Given the description of an element on the screen output the (x, y) to click on. 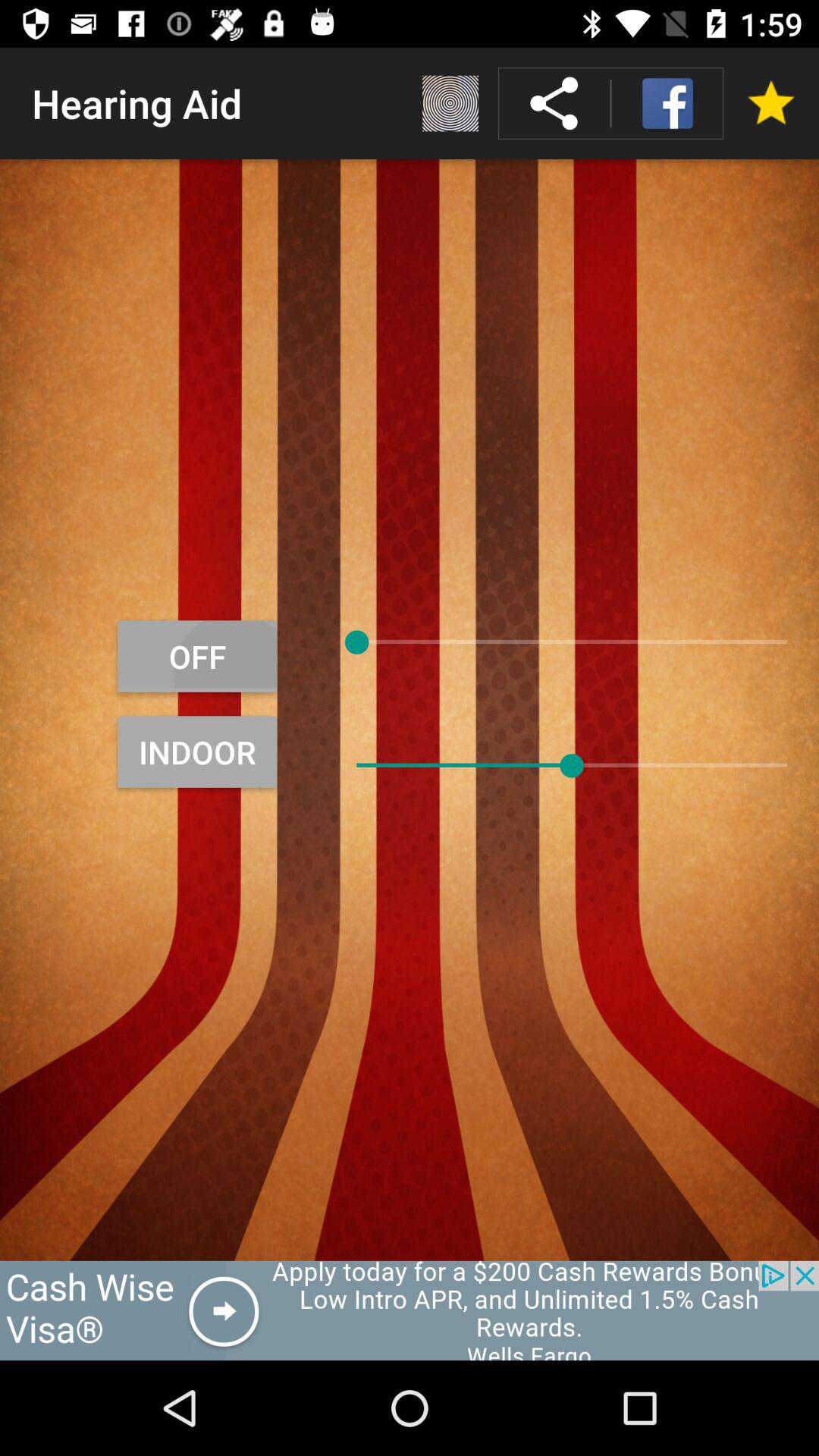
advertisement page (409, 1310)
